Given the description of an element on the screen output the (x, y) to click on. 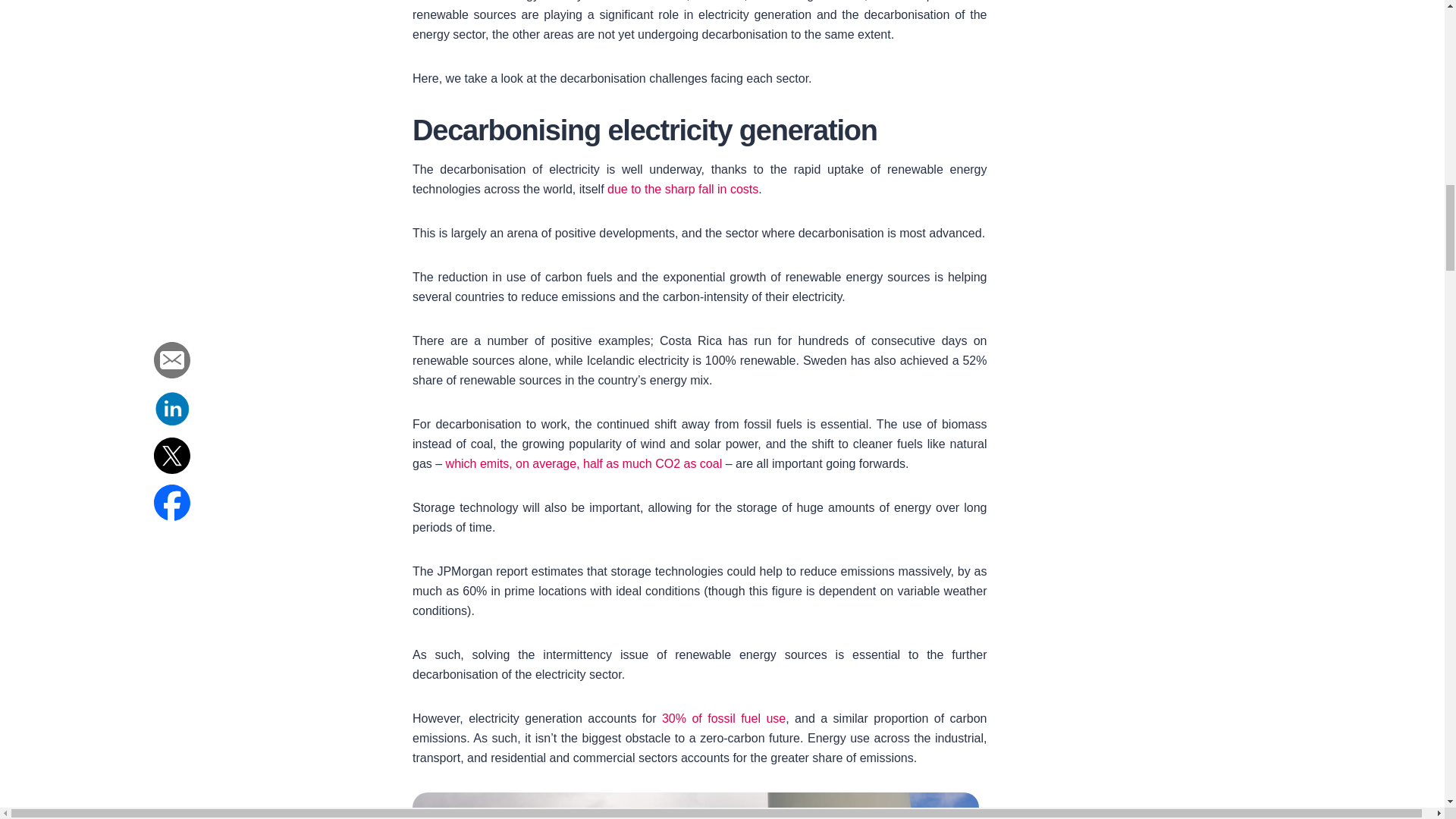
which emits, on average, half as much CO2 as coal (582, 463)
due to the sharp fall in costs (682, 188)
